Given the description of an element on the screen output the (x, y) to click on. 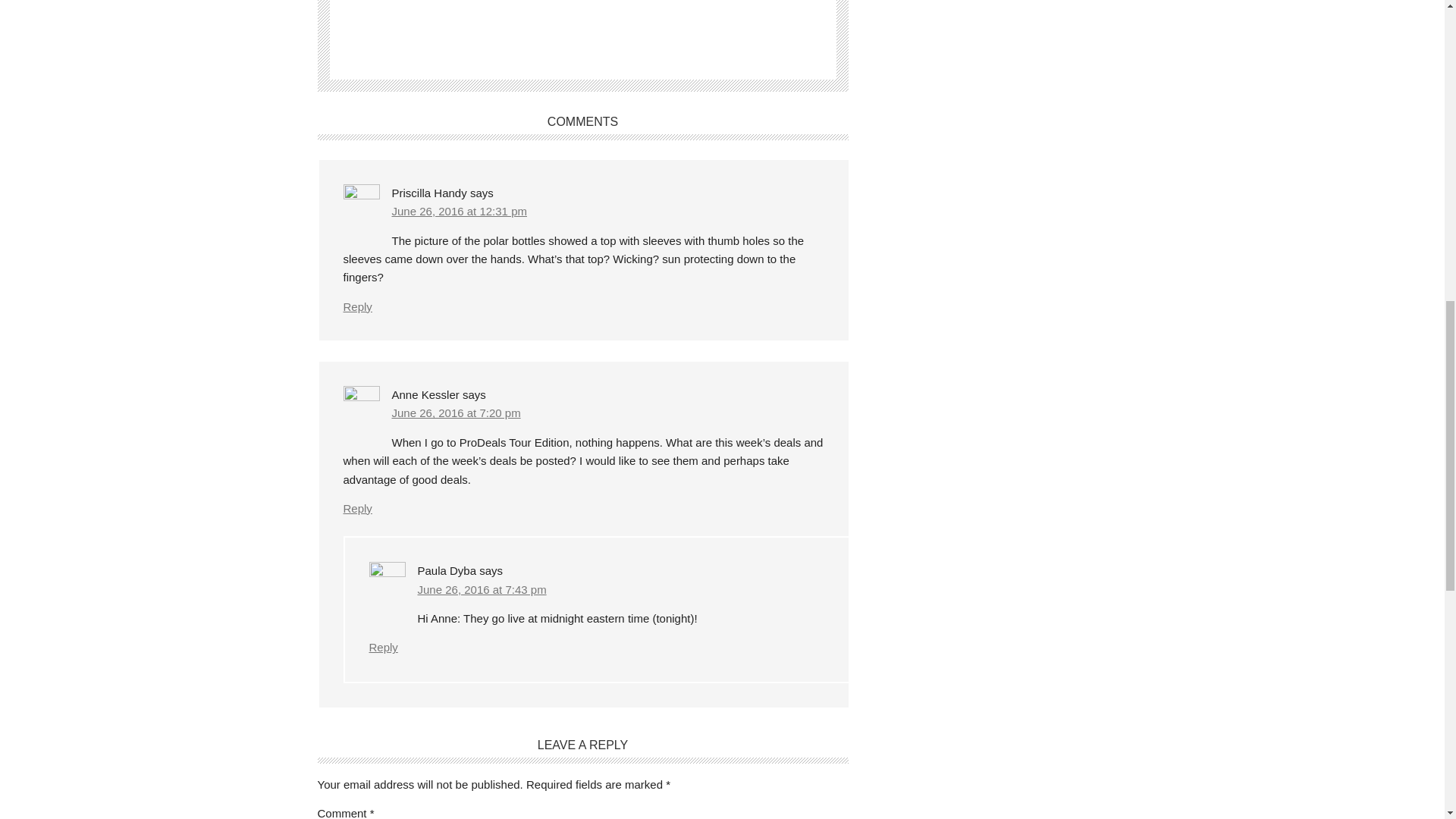
Reply (356, 508)
June 26, 2016 at 7:20 pm (455, 412)
Reply (382, 646)
June 26, 2016 at 7:43 pm (481, 589)
June 26, 2016 at 12:31 pm (458, 210)
Reply (356, 306)
